Given the description of an element on the screen output the (x, y) to click on. 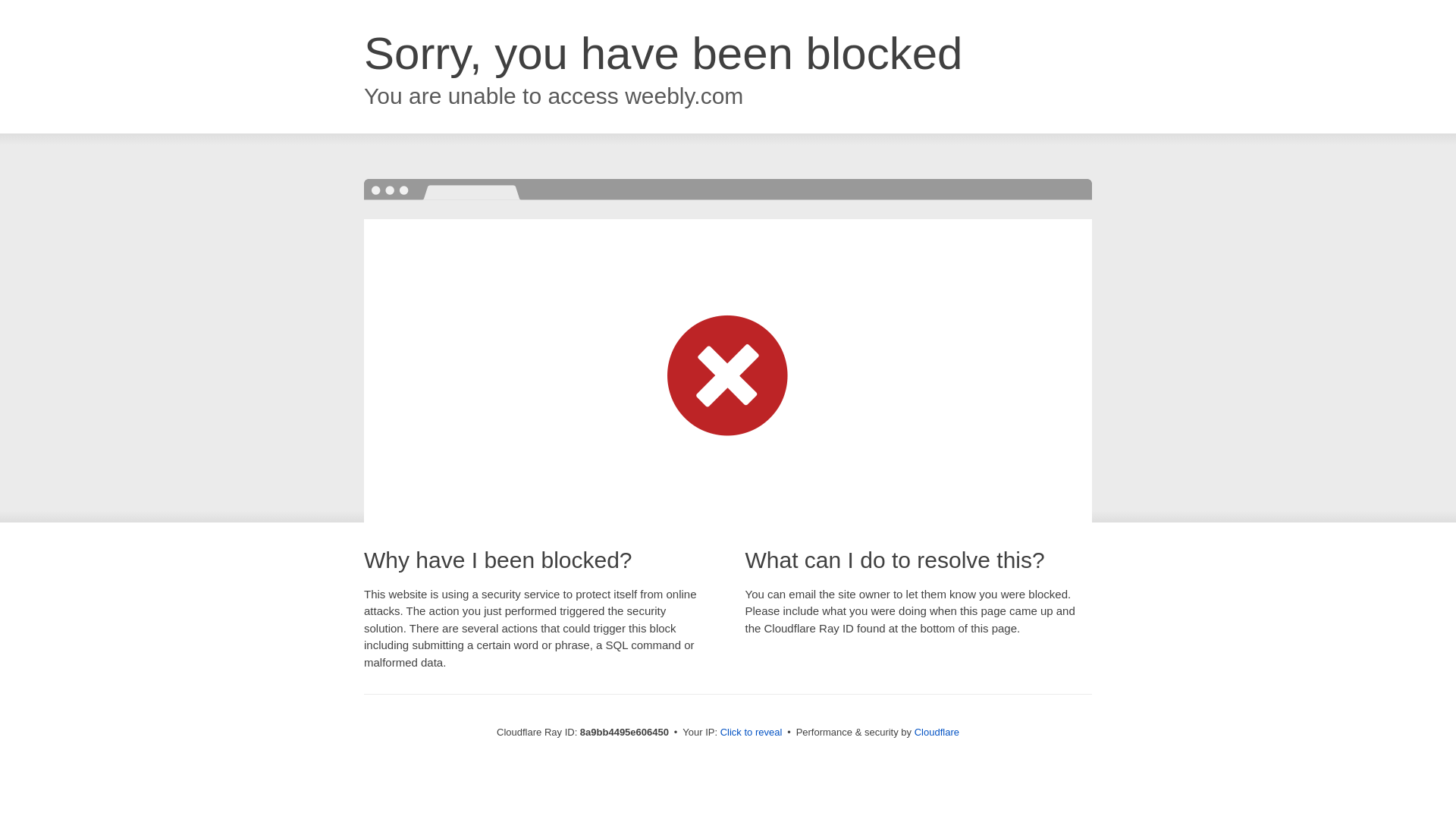
Click to reveal (751, 732)
Cloudflare (936, 731)
